Given the description of an element on the screen output the (x, y) to click on. 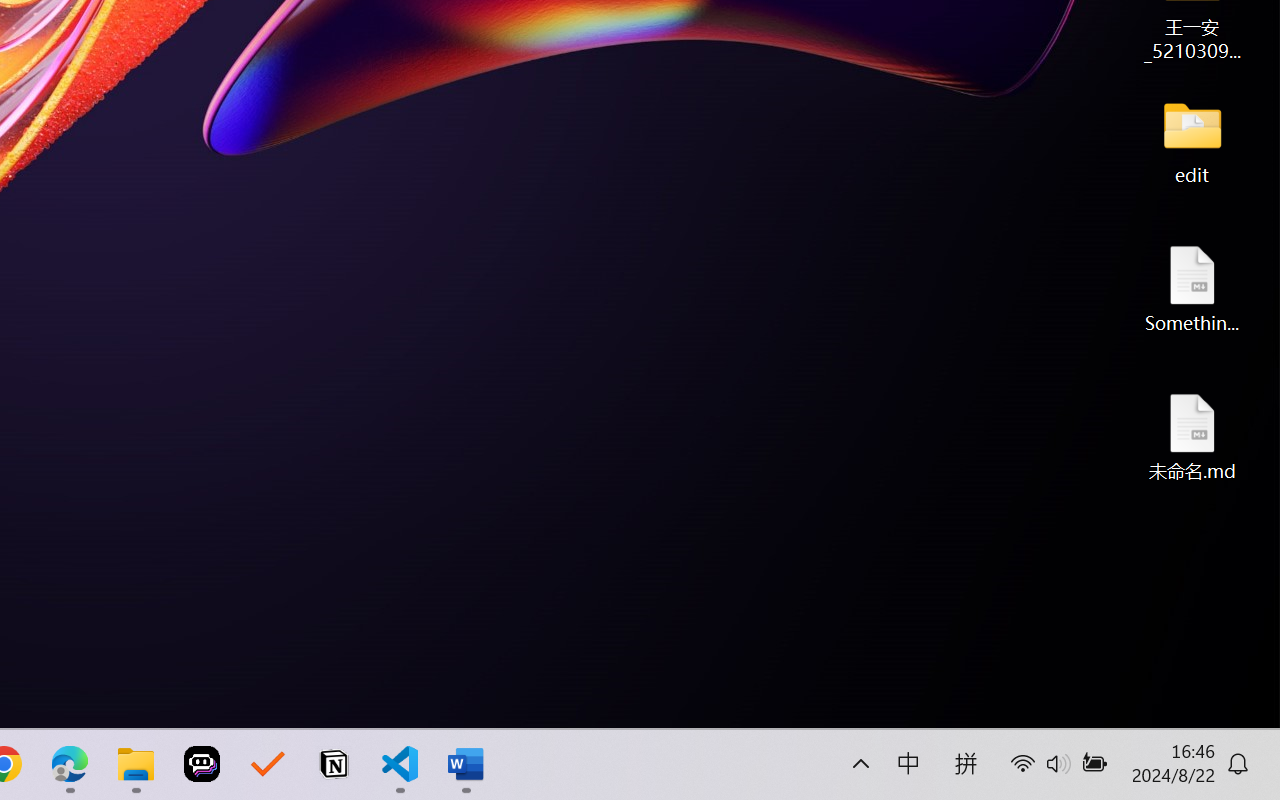
Something.md (1192, 288)
